Given the description of an element on the screen output the (x, y) to click on. 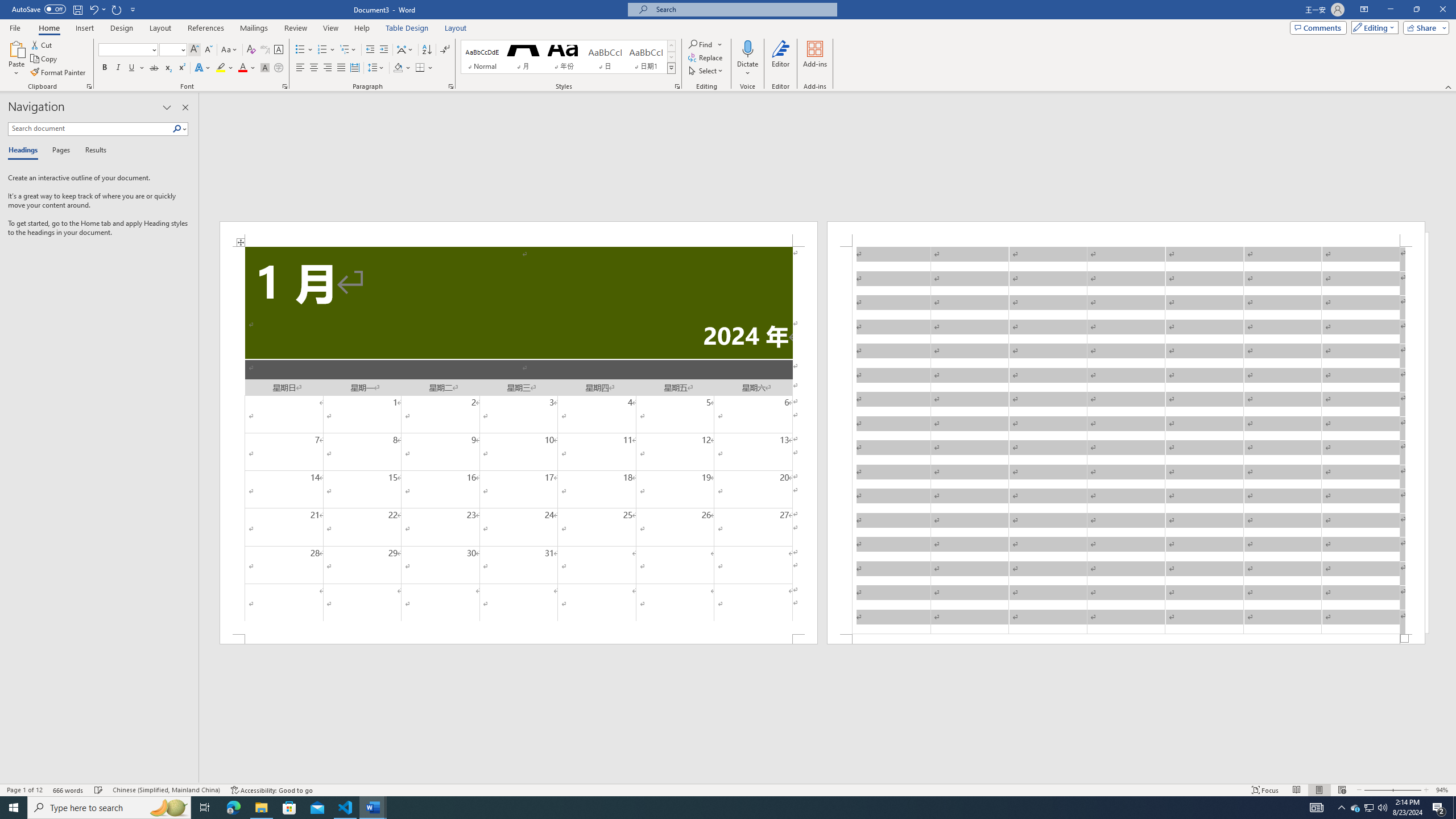
Page Number Page 1 of 12 (24, 790)
